Given the description of an element on the screen output the (x, y) to click on. 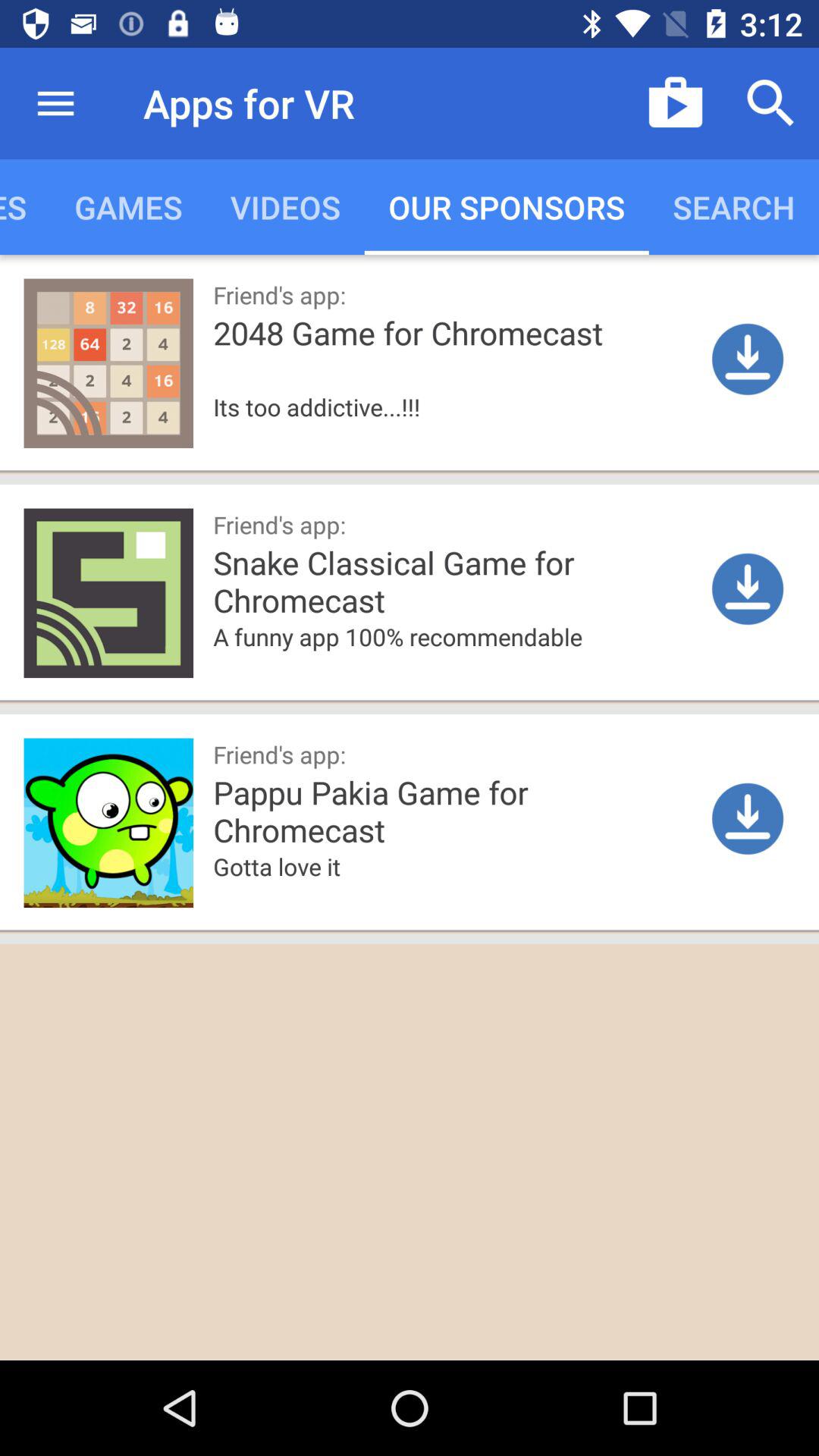
click the pappu pakia game (508, 810)
